Given the description of an element on the screen output the (x, y) to click on. 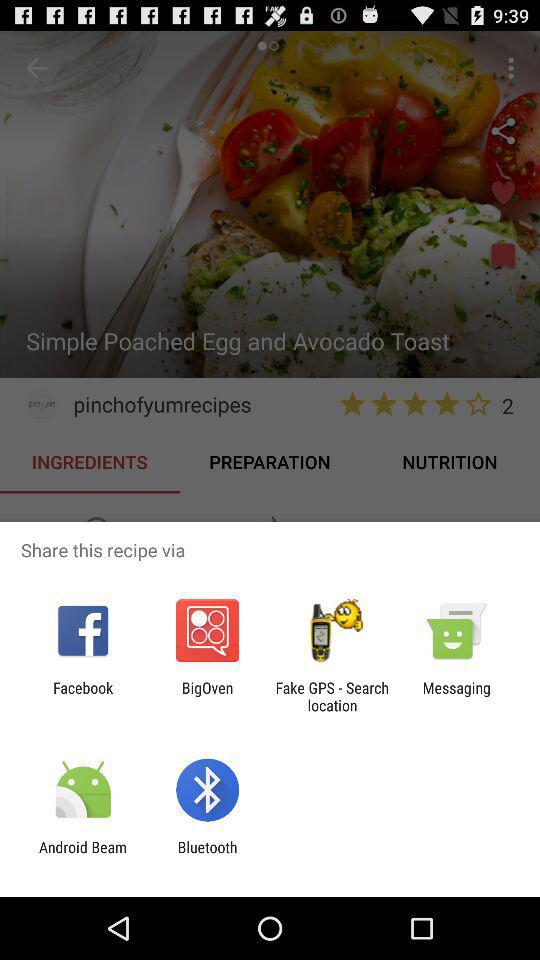
launch the item to the right of facebook app (207, 696)
